Given the description of an element on the screen output the (x, y) to click on. 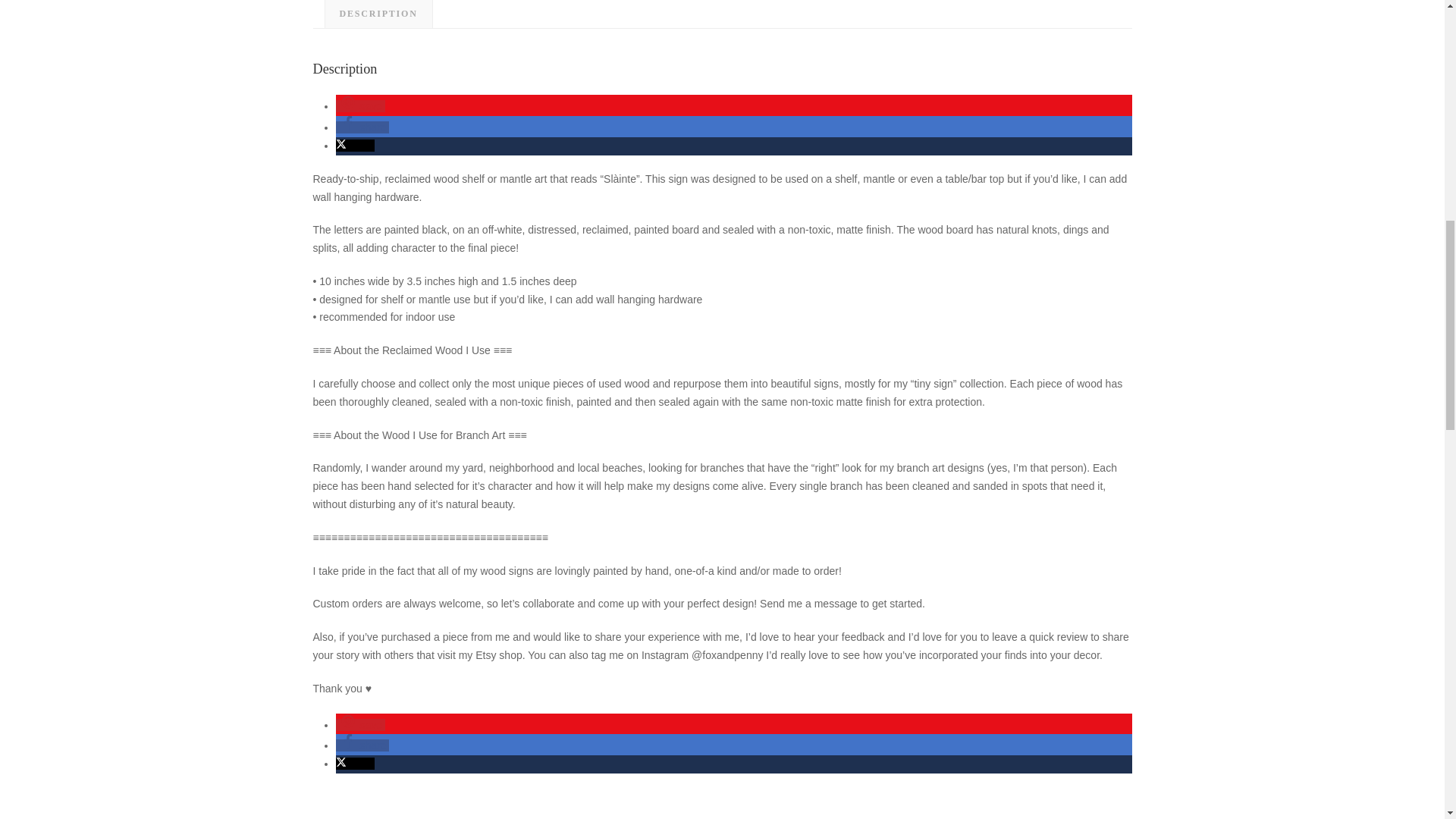
Share on Facebook (361, 127)
Share on Facebook (361, 745)
share  (361, 127)
DESCRIPTION (377, 13)
Pin it on Pinterest (359, 105)
Pin it on Pinterest (359, 725)
save  (359, 105)
